Given the description of an element on the screen output the (x, y) to click on. 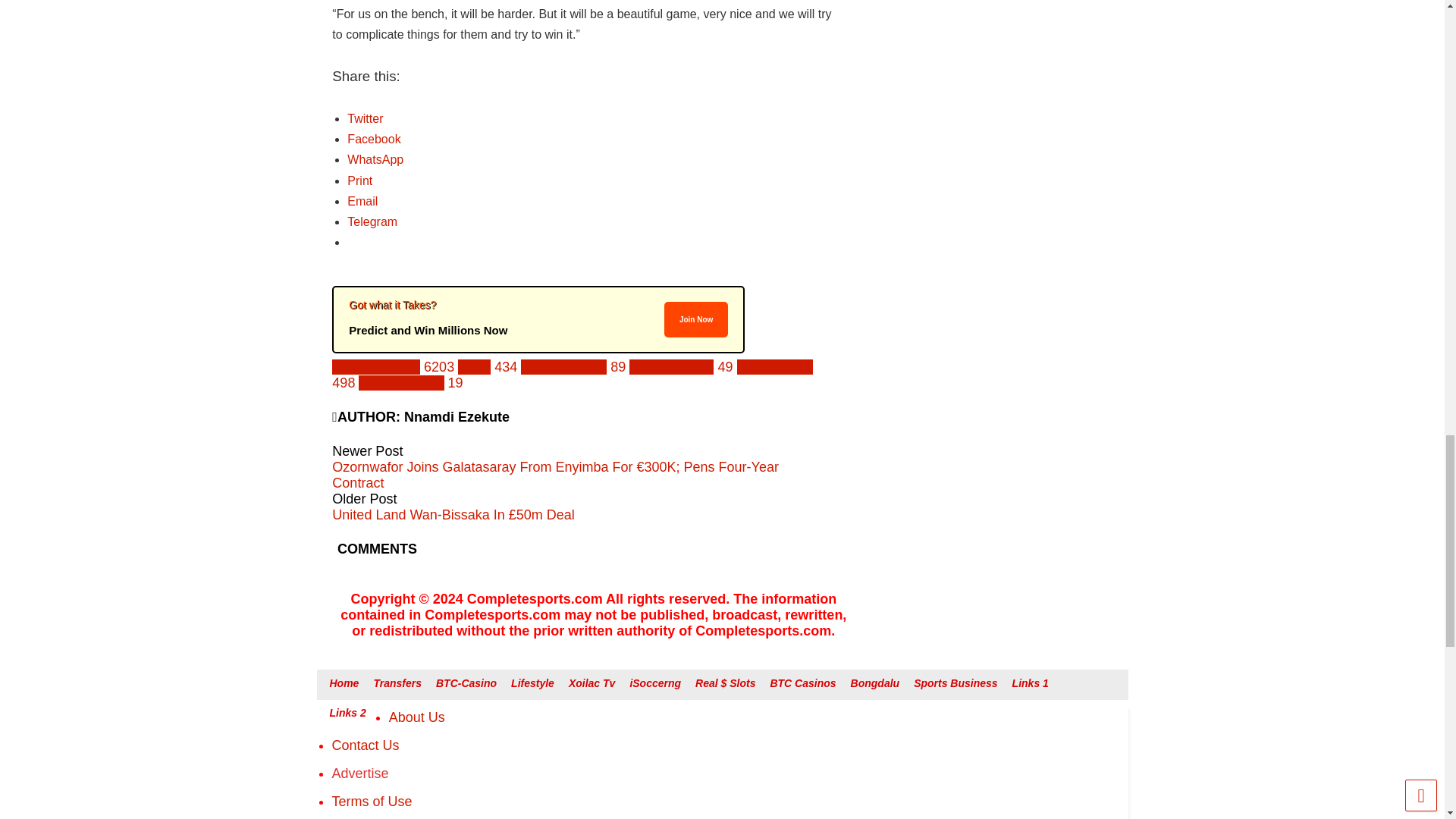
Click to share on WhatsApp (375, 159)
Click to share on Twitter (364, 118)
Click to share on Facebook (373, 138)
Click to print (359, 180)
Click to share on Telegram (372, 221)
Click to email a link to a friend (362, 201)
